Given the description of an element on the screen output the (x, y) to click on. 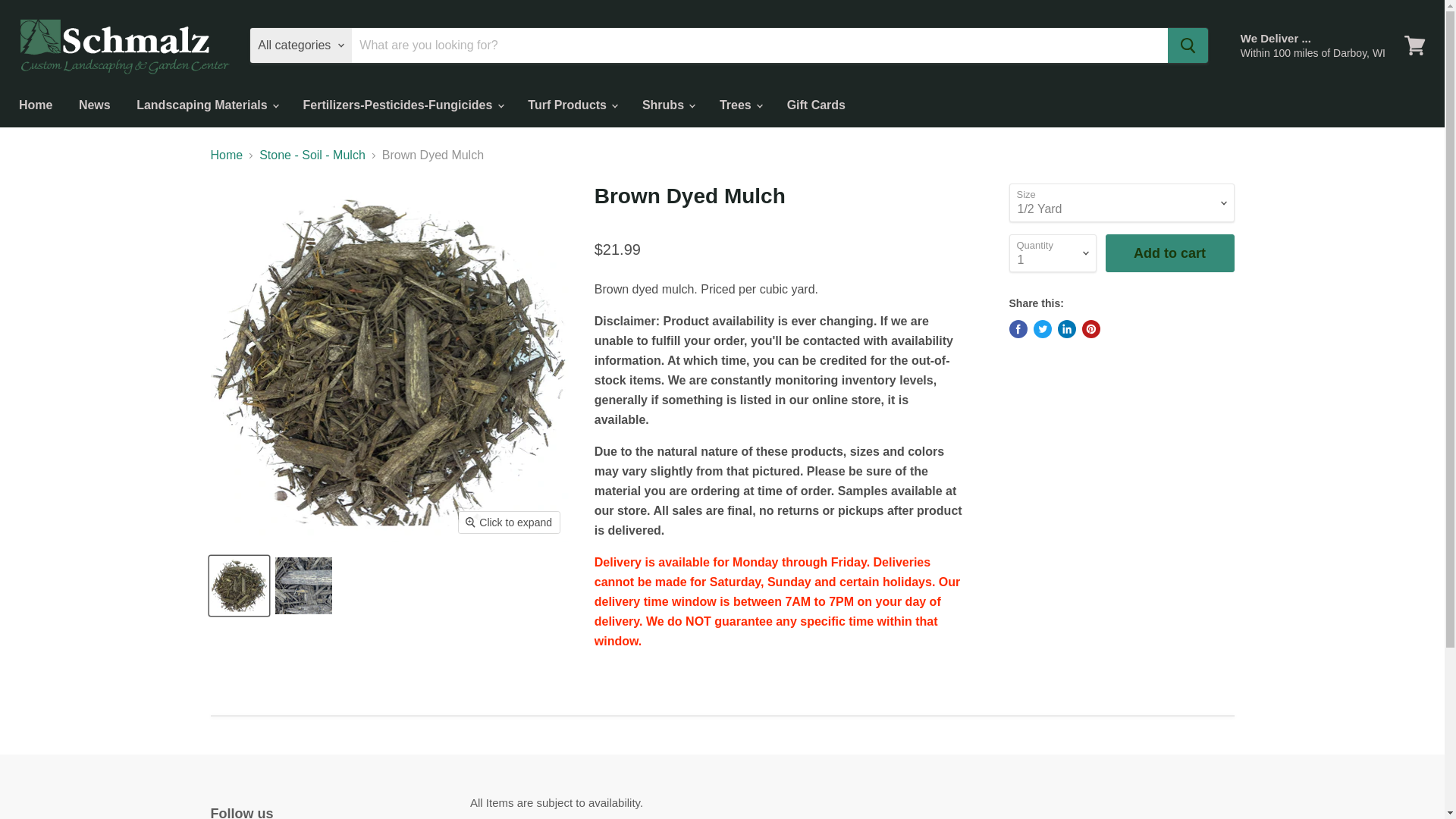
Shrubs (667, 105)
Fertilizers-Pesticides-Fungicides (402, 105)
Landscaping Materials (206, 105)
Turf Products (571, 105)
Home (35, 105)
News (94, 105)
View cart (1414, 45)
Trees (739, 105)
Gift Cards (816, 105)
